Given the description of an element on the screen output the (x, y) to click on. 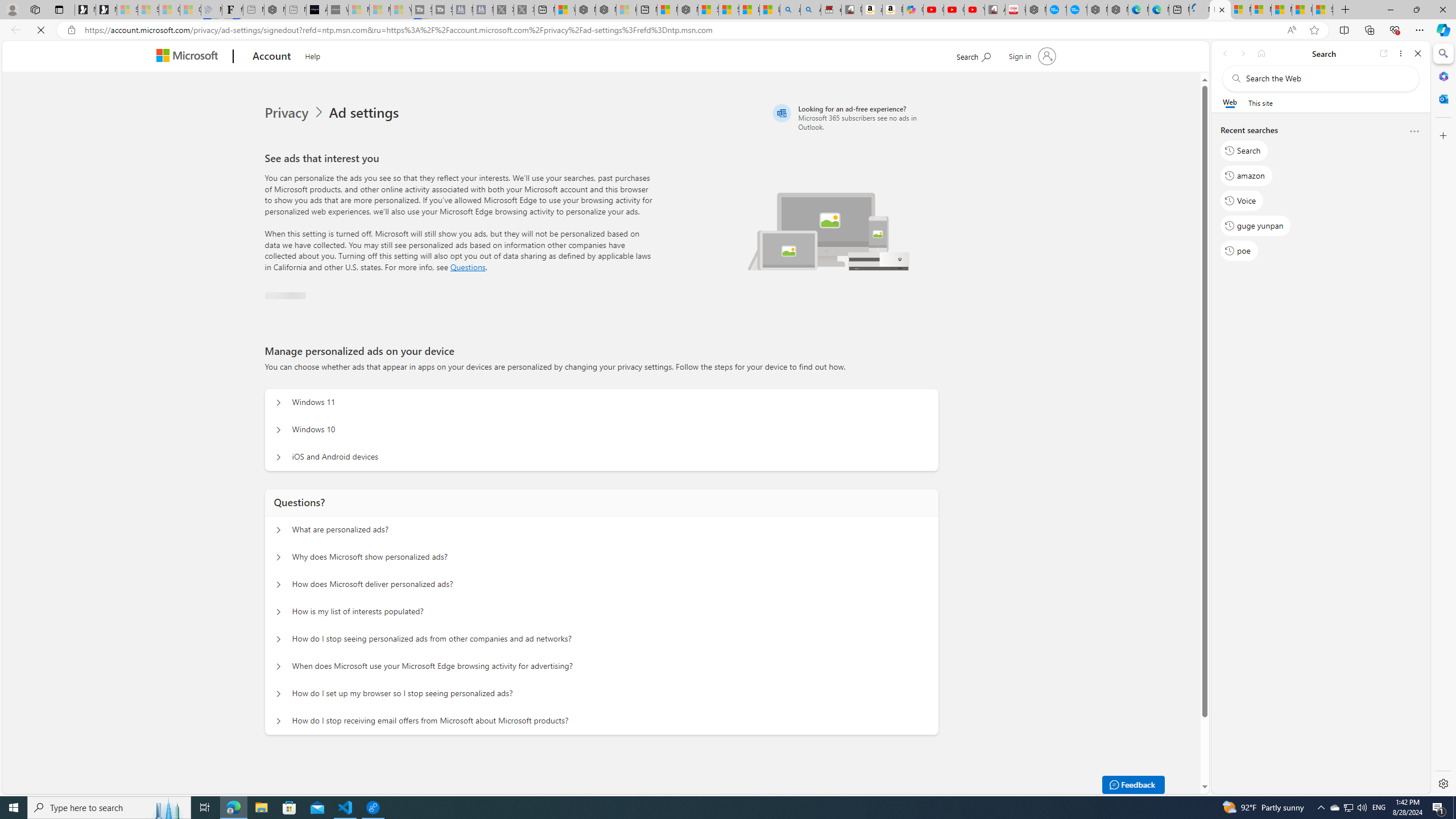
Settings (1442, 783)
Nordace - My Account (1035, 9)
This site scope (1259, 102)
Recent searchesSearchamazonVoiceguge yunpanpoe (1320, 194)
YouTube Kids - An App Created for Kids to Explore Content (974, 9)
